Given the description of an element on the screen output the (x, y) to click on. 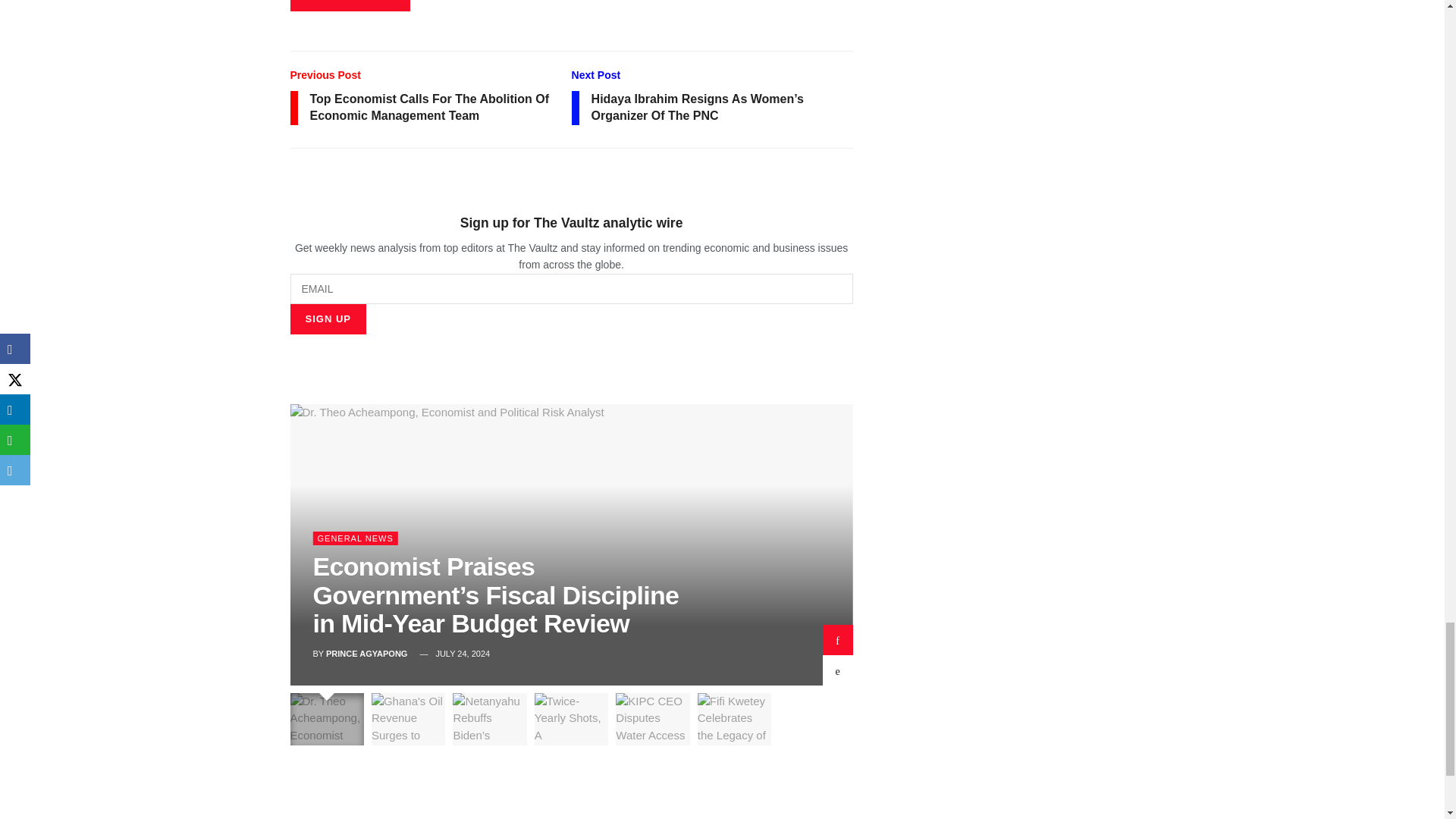
Post Comment (349, 5)
Sign up (327, 318)
